Given the description of an element on the screen output the (x, y) to click on. 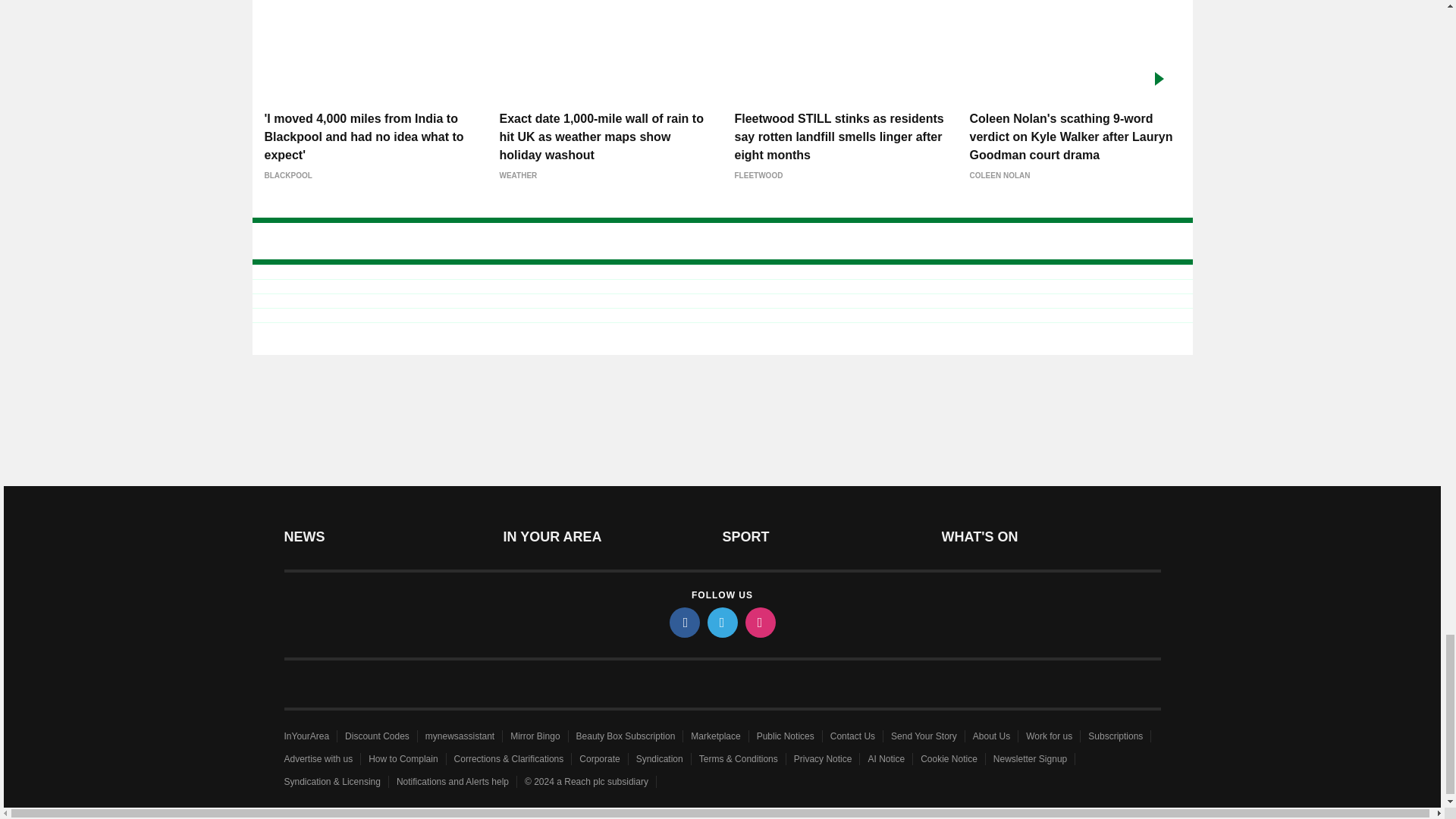
instagram (759, 622)
facebook (683, 622)
twitter (721, 622)
